Given the description of an element on the screen output the (x, y) to click on. 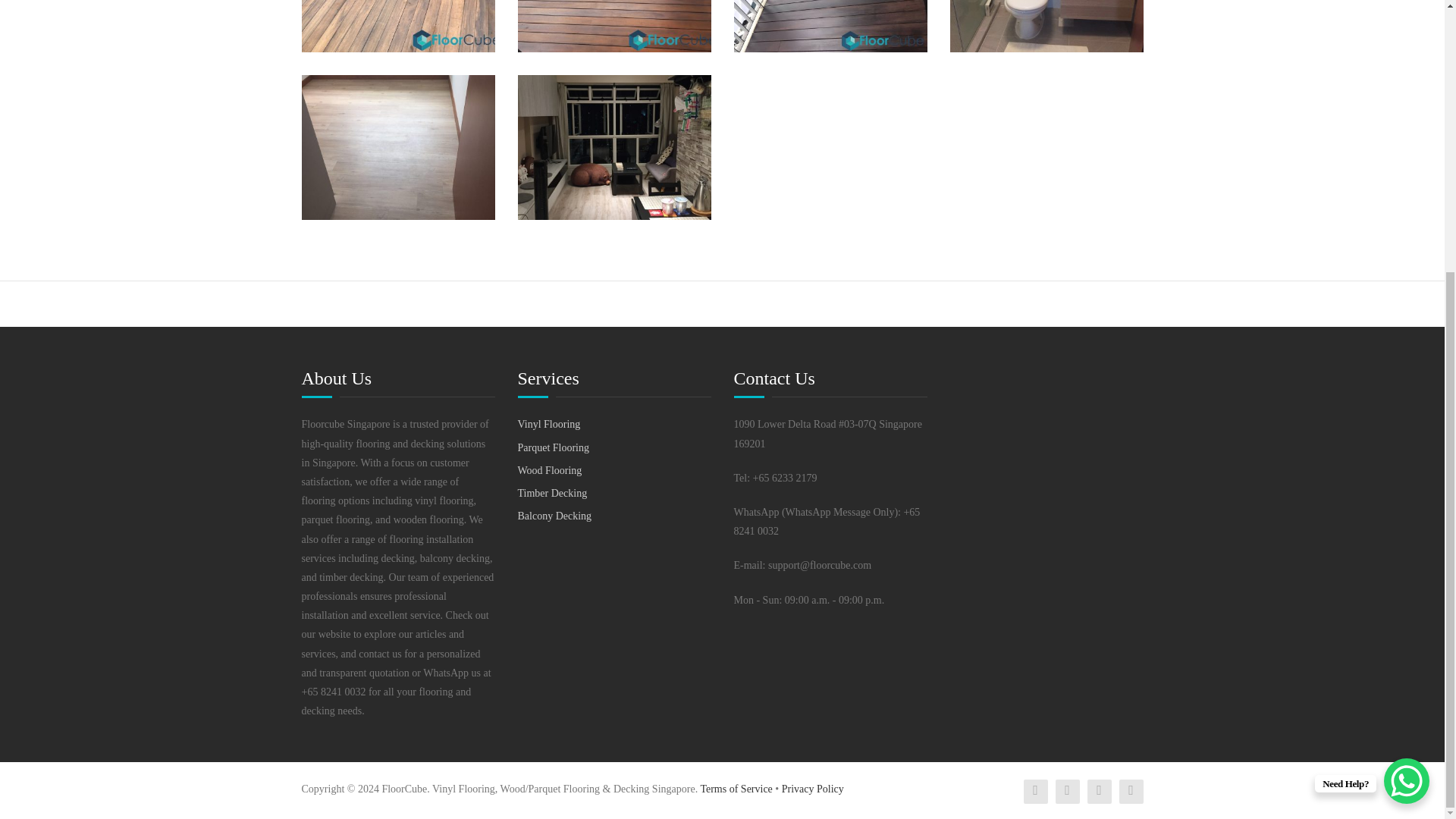
balcony-decking-floorcube-singapore-condo-tampines-1 (613, 26)
balcony-decking-floorcube-singapore-landed-east-coast-1 (398, 26)
balcony-decking-floorcube-singapore-condo-serangoon-1-wm (830, 26)
Bathroom-tiling-singapore-HDB-Telok-Blangah-heights 2 (1045, 26)
vinyl-flooring-singapore-HDB-boon-tiong-road (613, 147)
